Given the description of an element on the screen output the (x, y) to click on. 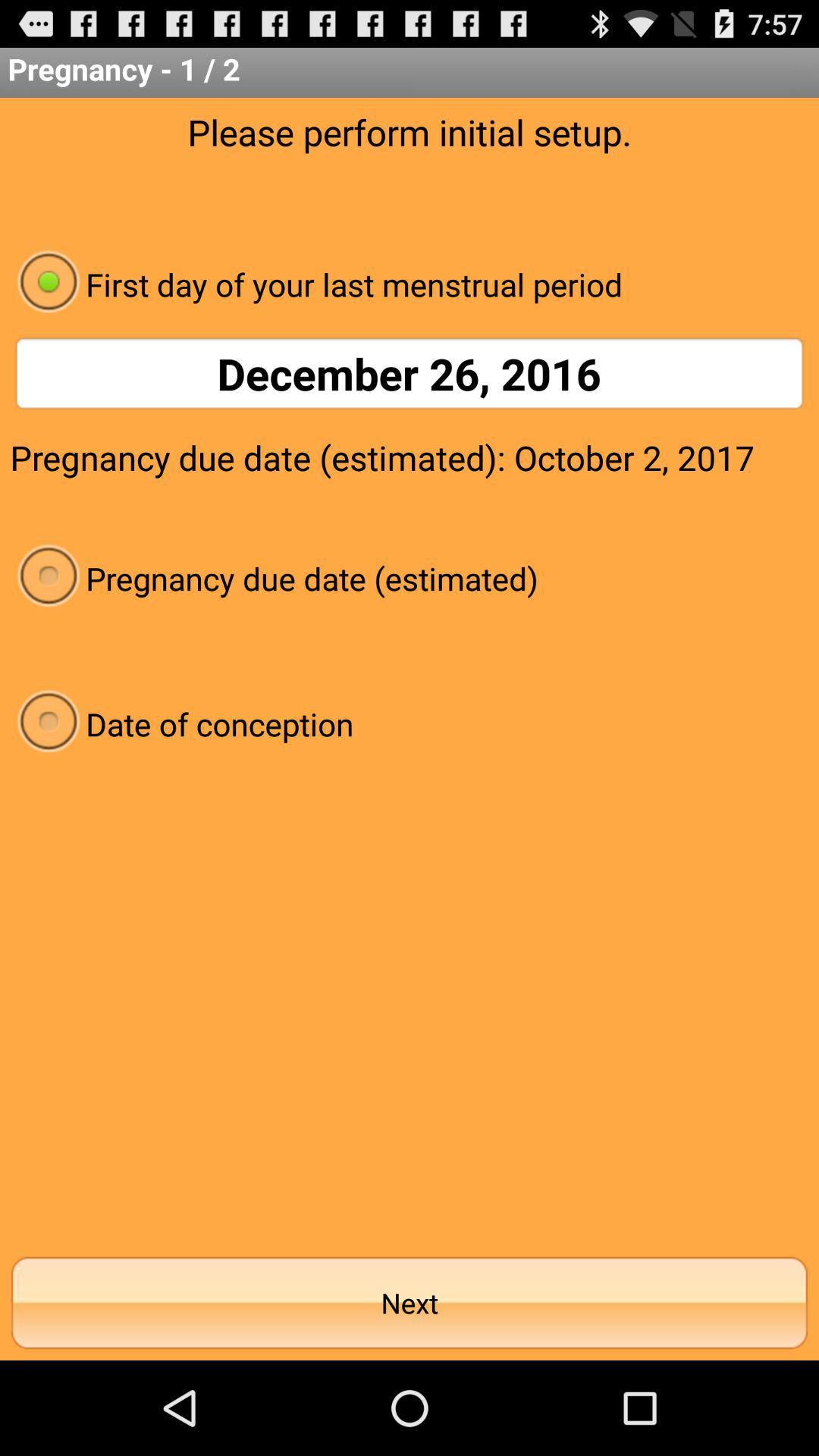
choose first day of radio button (409, 284)
